Given the description of an element on the screen output the (x, y) to click on. 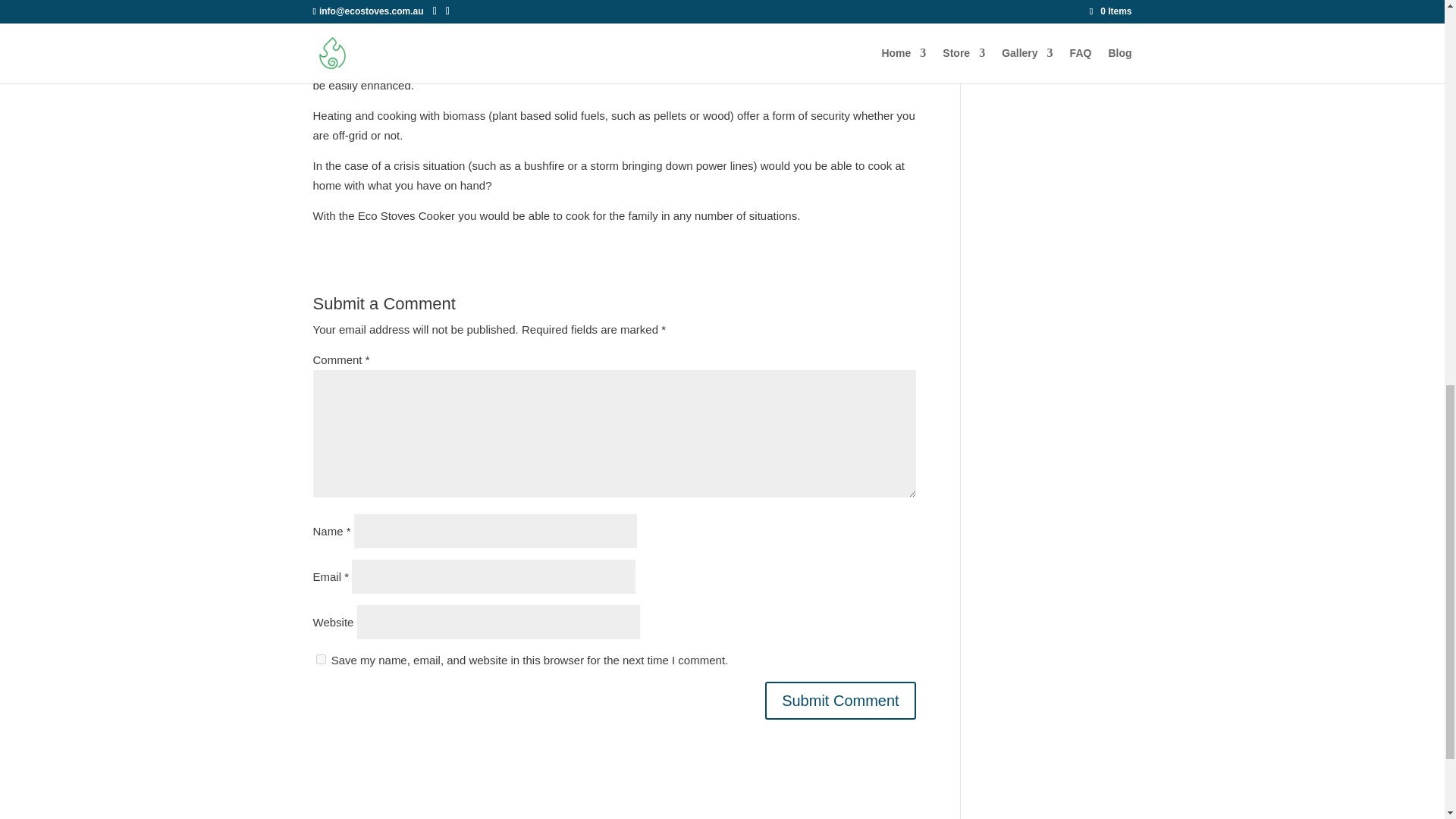
Submit Comment (840, 700)
Submit Comment (840, 700)
yes (319, 659)
